Given the description of an element on the screen output the (x, y) to click on. 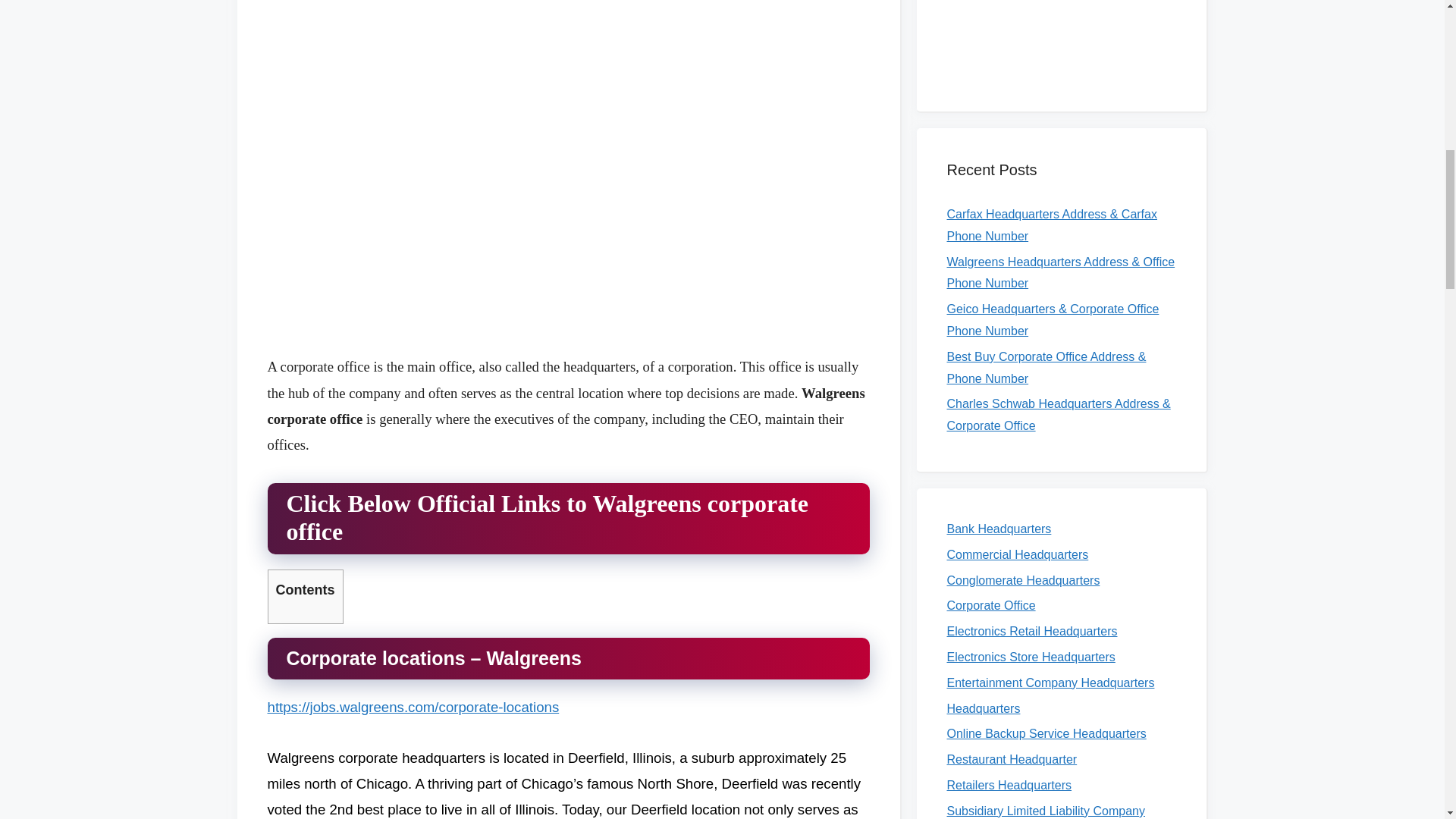
Restaurant Headquarter (1011, 758)
Subsidiary Limited Liability Company Headquarters (1045, 811)
Headquarters (983, 707)
Conglomerate Headquarters (1022, 580)
Online Backup Service Headquarters (1045, 733)
Entertainment Company Headquarters (1050, 682)
Advertisement (567, 58)
Advertisement (567, 232)
Electronics Store Headquarters (1030, 656)
Bank Headquarters (998, 528)
